Given the description of an element on the screen output the (x, y) to click on. 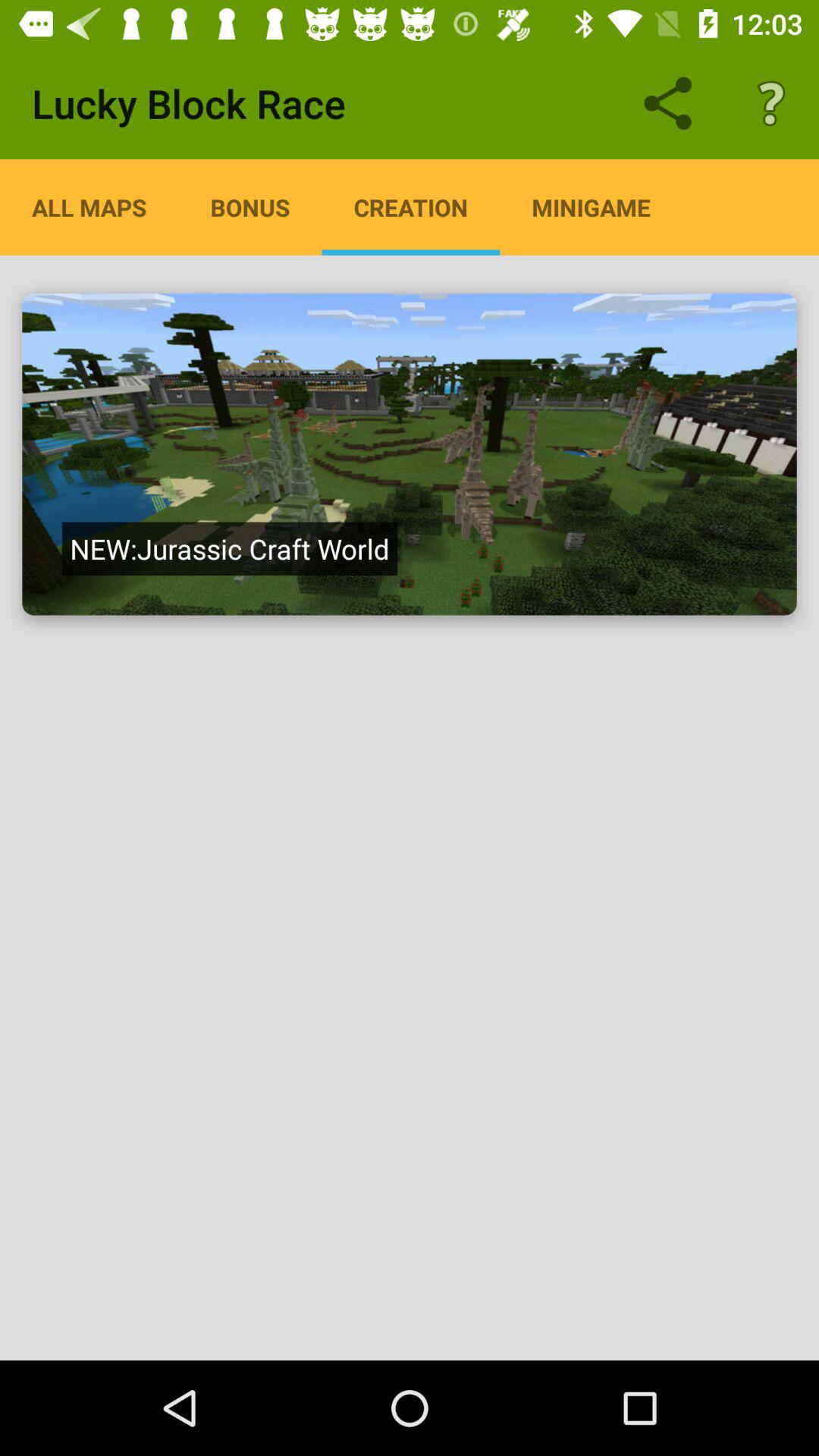
turn off app next to the minigame (410, 207)
